Given the description of an element on the screen output the (x, y) to click on. 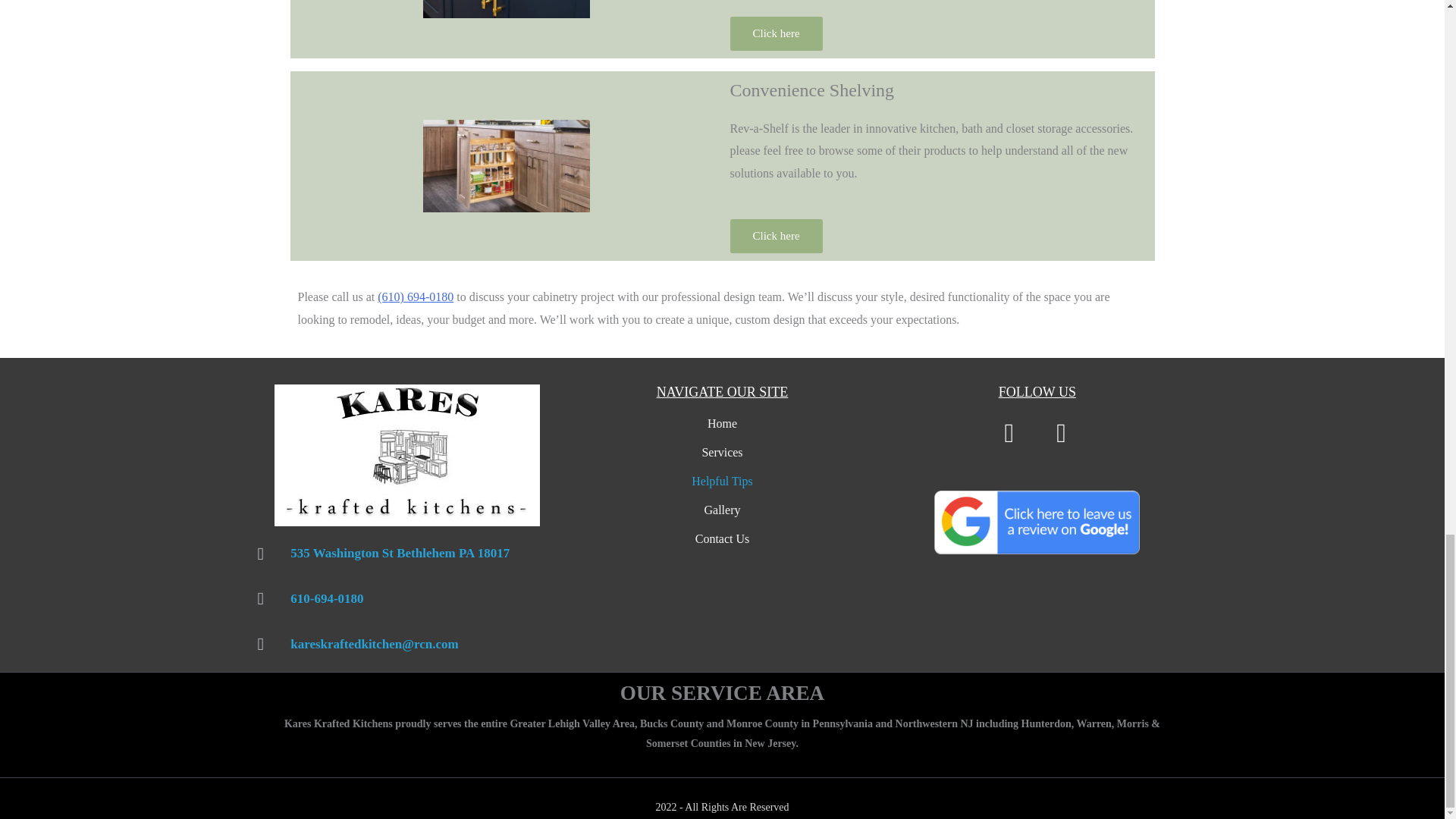
535 Washington St Bethlehem PA 18017 (407, 553)
Click here (775, 236)
Gallery (722, 509)
Services (722, 452)
Helpful Tips (722, 481)
Contact Us (722, 539)
Click here (775, 32)
610-694-0180 (407, 598)
Home (722, 423)
